Given the description of an element on the screen output the (x, y) to click on. 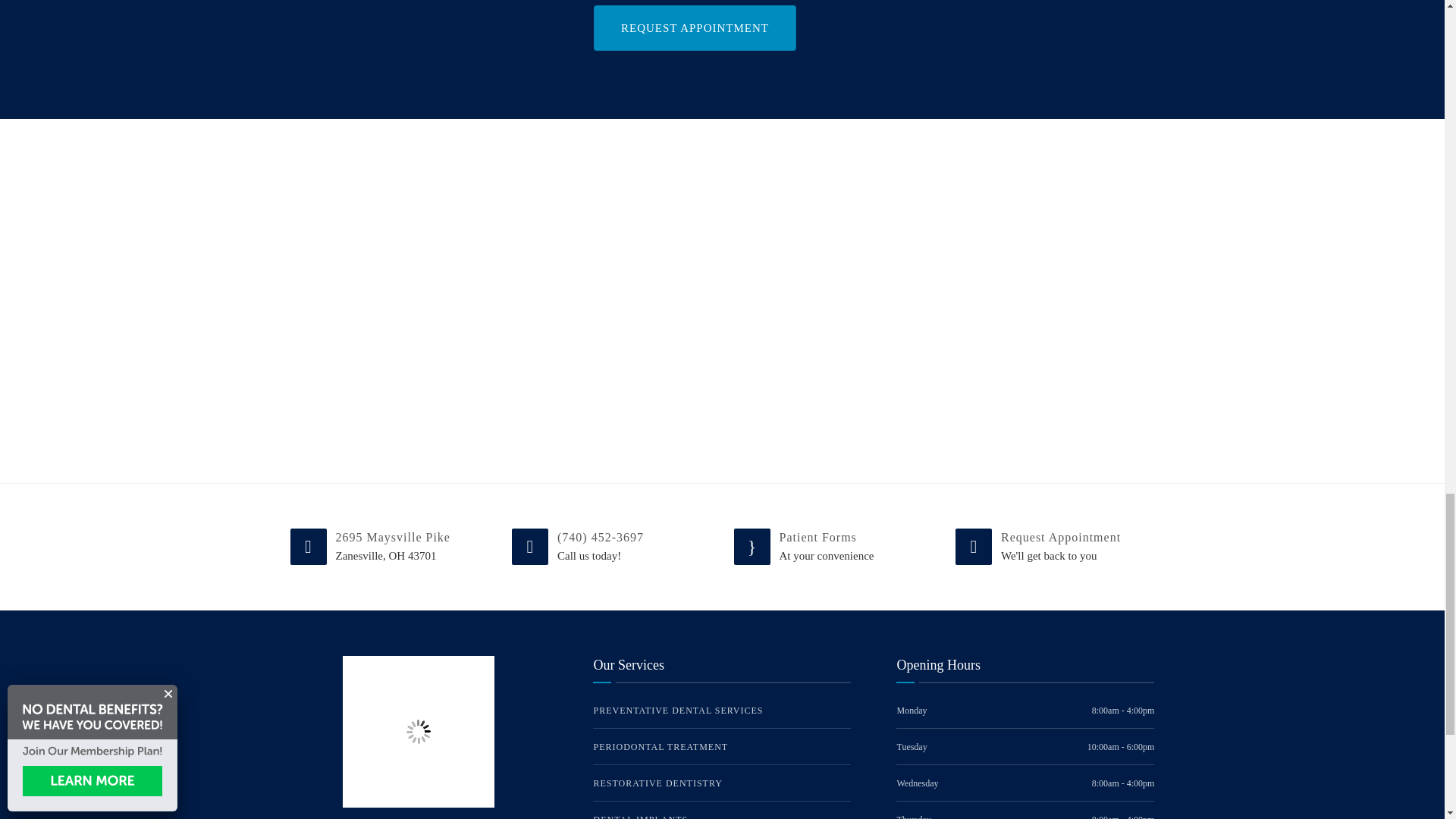
Request Appointment (695, 27)
